Given the description of an element on the screen output the (x, y) to click on. 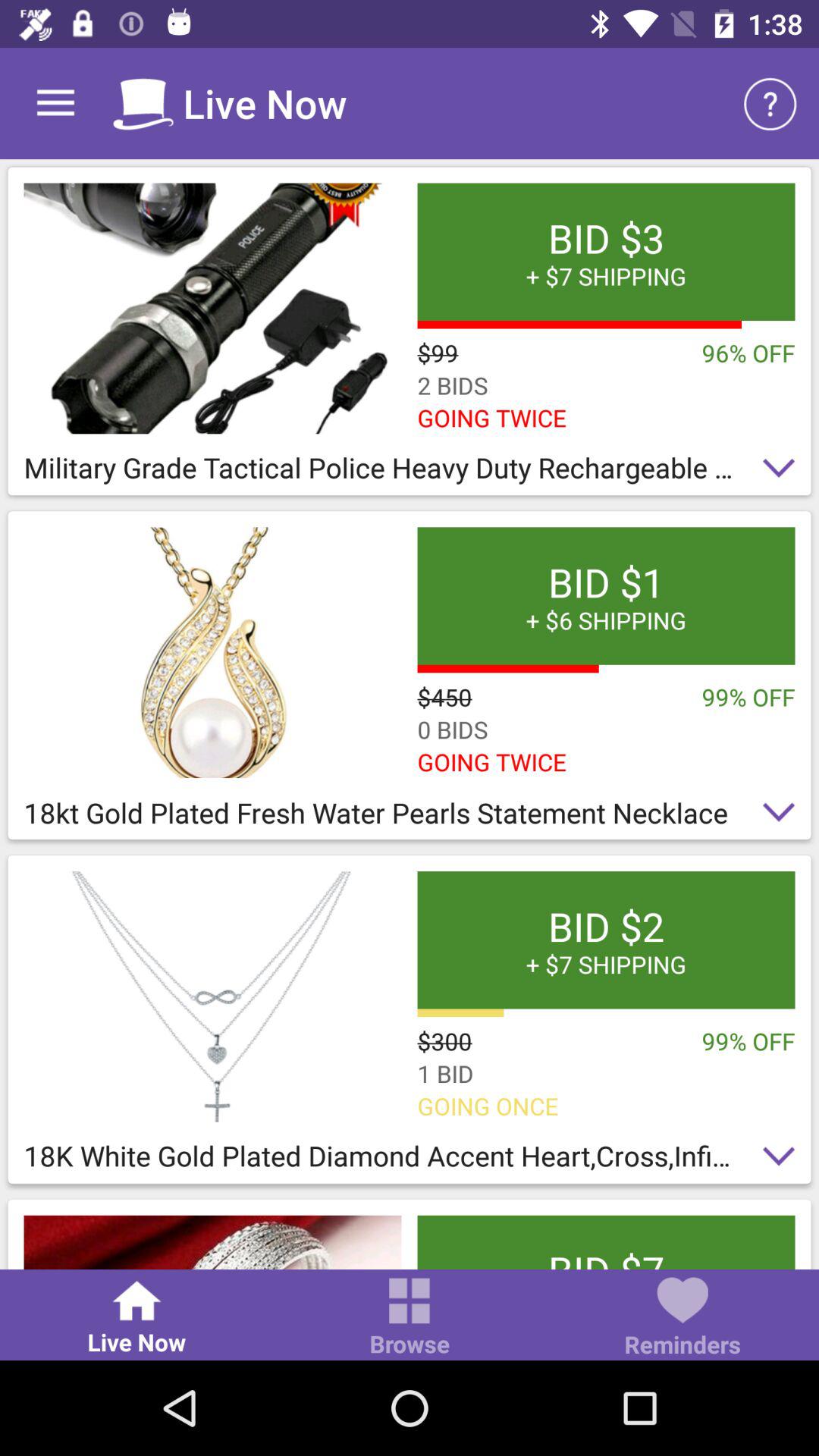
click the reminders icon (682, 1318)
